Given the description of an element on the screen output the (x, y) to click on. 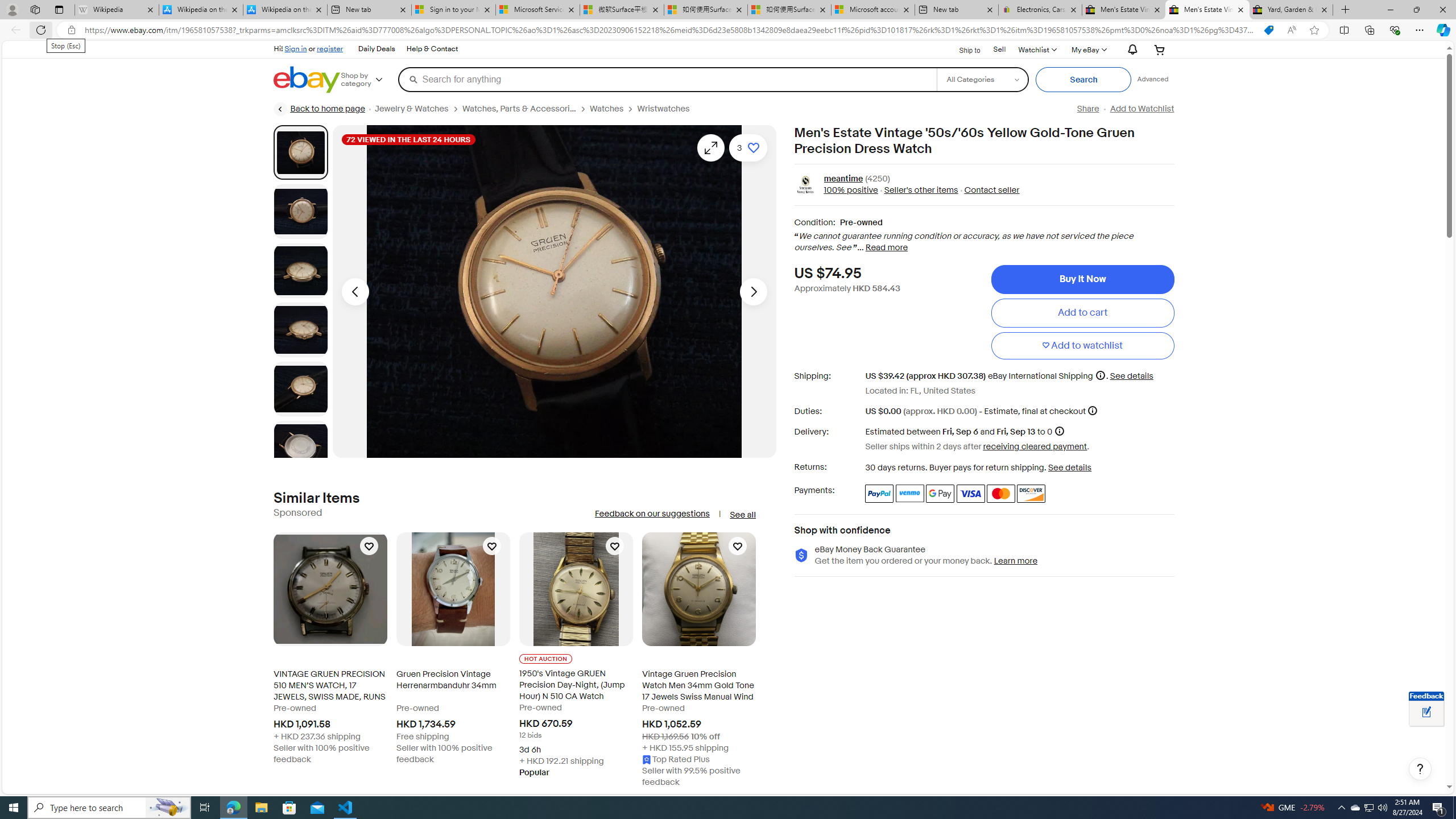
Next image - Item images thumbnails (753, 291)
Microsoft account | Account Checkup (873, 9)
  Contact seller (988, 190)
Venmo (909, 493)
Help, opens dialogs (1420, 768)
Picture 5 of 8 (300, 388)
Wristwatches (667, 108)
Leave feedback about your eBay ViewItem experience (1426, 713)
